Given the description of an element on the screen output the (x, y) to click on. 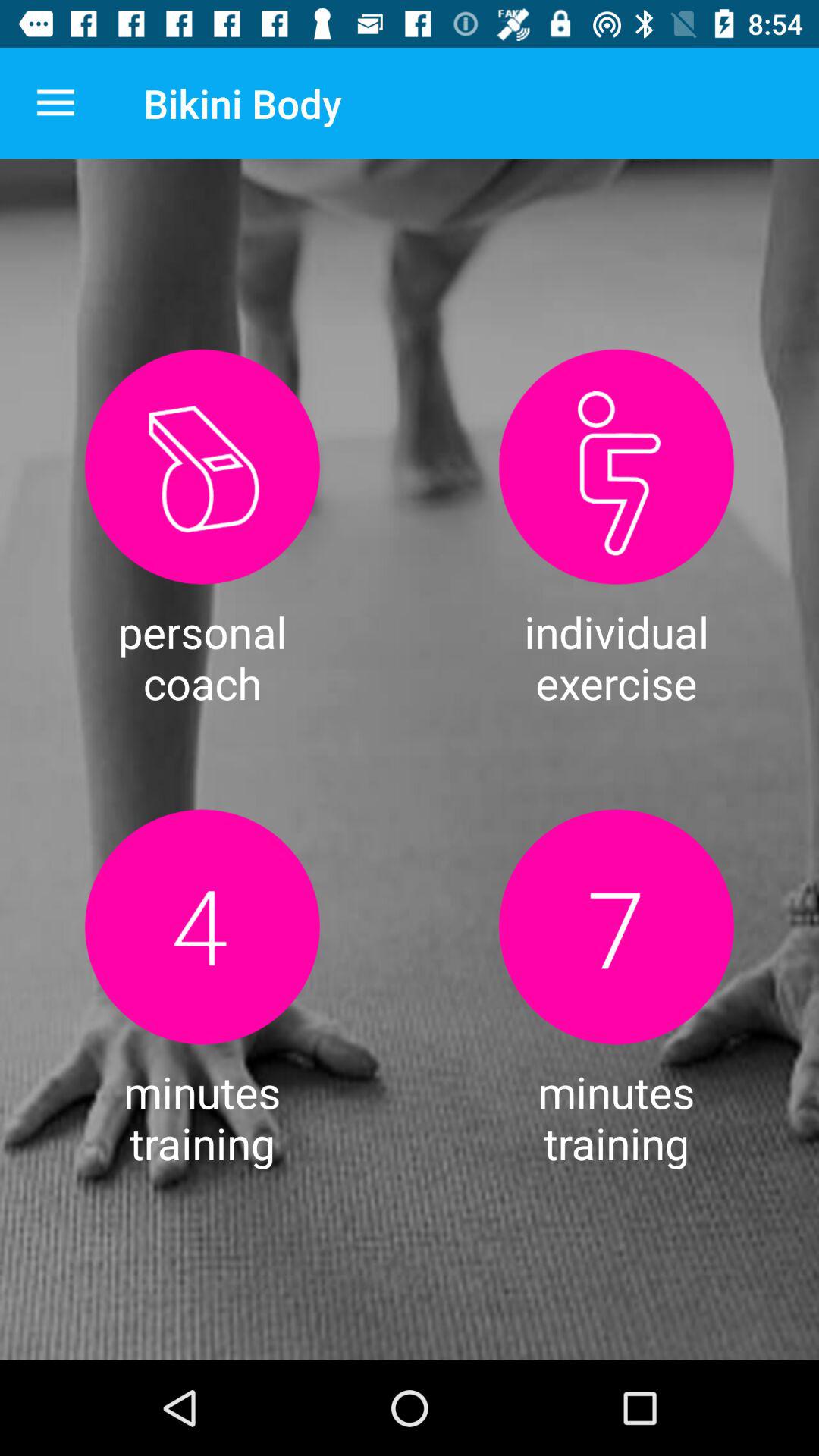
adjust minutes training (202, 926)
